Given the description of an element on the screen output the (x, y) to click on. 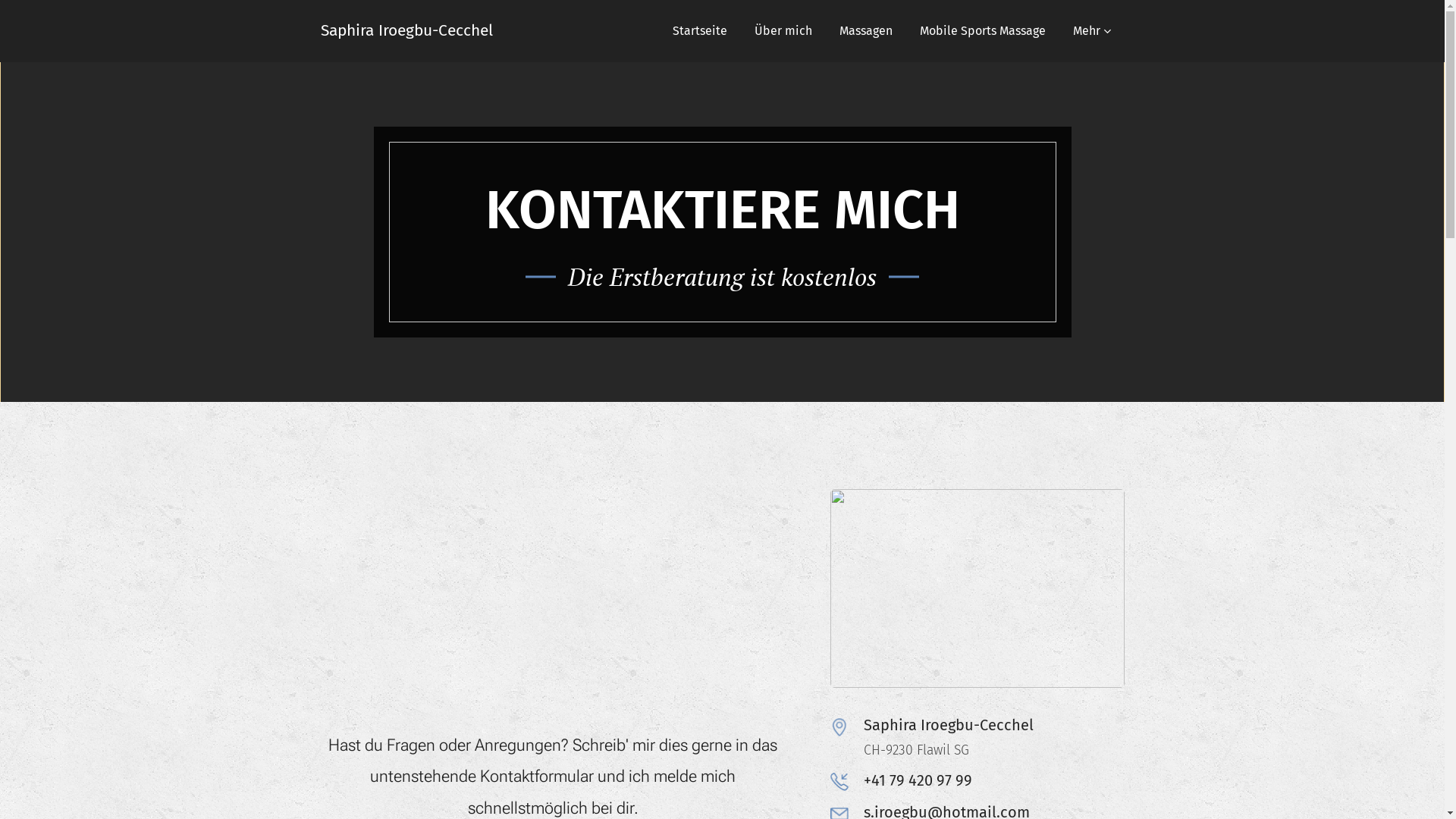
Mehr Element type: text (1090, 31)
Massagen Element type: text (865, 31)
Saphira Iroegbu-Cecchel Element type: text (405, 30)
Startseite Element type: text (699, 31)
Mobile Sports Massage Element type: text (981, 31)
